Given the description of an element on the screen output the (x, y) to click on. 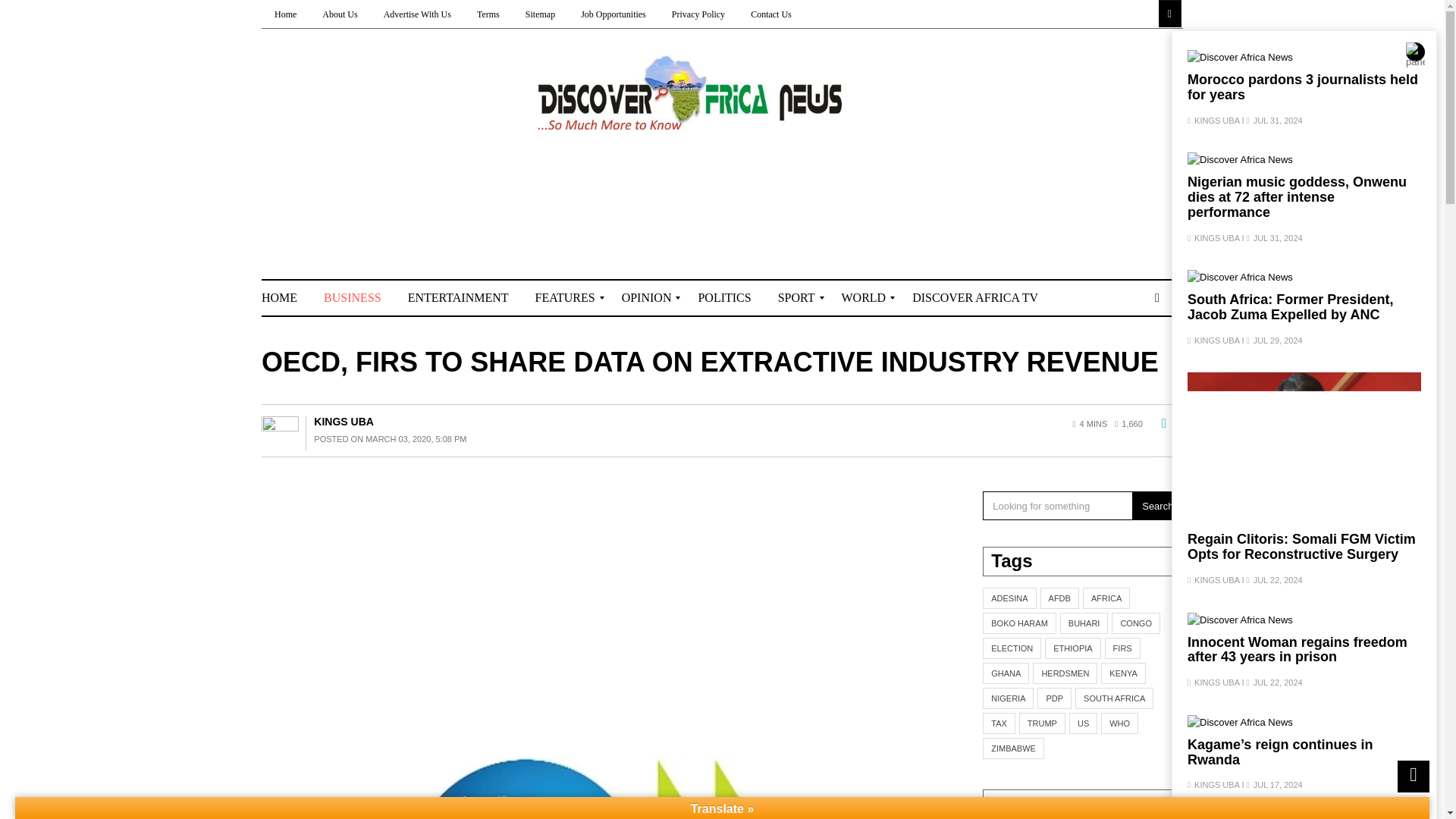
Contact Us (771, 14)
Terms (488, 14)
Privacy Policy (698, 14)
HOME (286, 297)
ENTERTAINMENT (458, 297)
FEATURES (565, 297)
POLITICS (724, 297)
Search (11, 9)
SPORT (796, 297)
DISCOVER AFRICA TV (975, 297)
WORLD (863, 297)
Home (285, 14)
BUSINESS (352, 297)
OPINION (646, 297)
Posts by Kings UBA (344, 421)
